Given the description of an element on the screen output the (x, y) to click on. 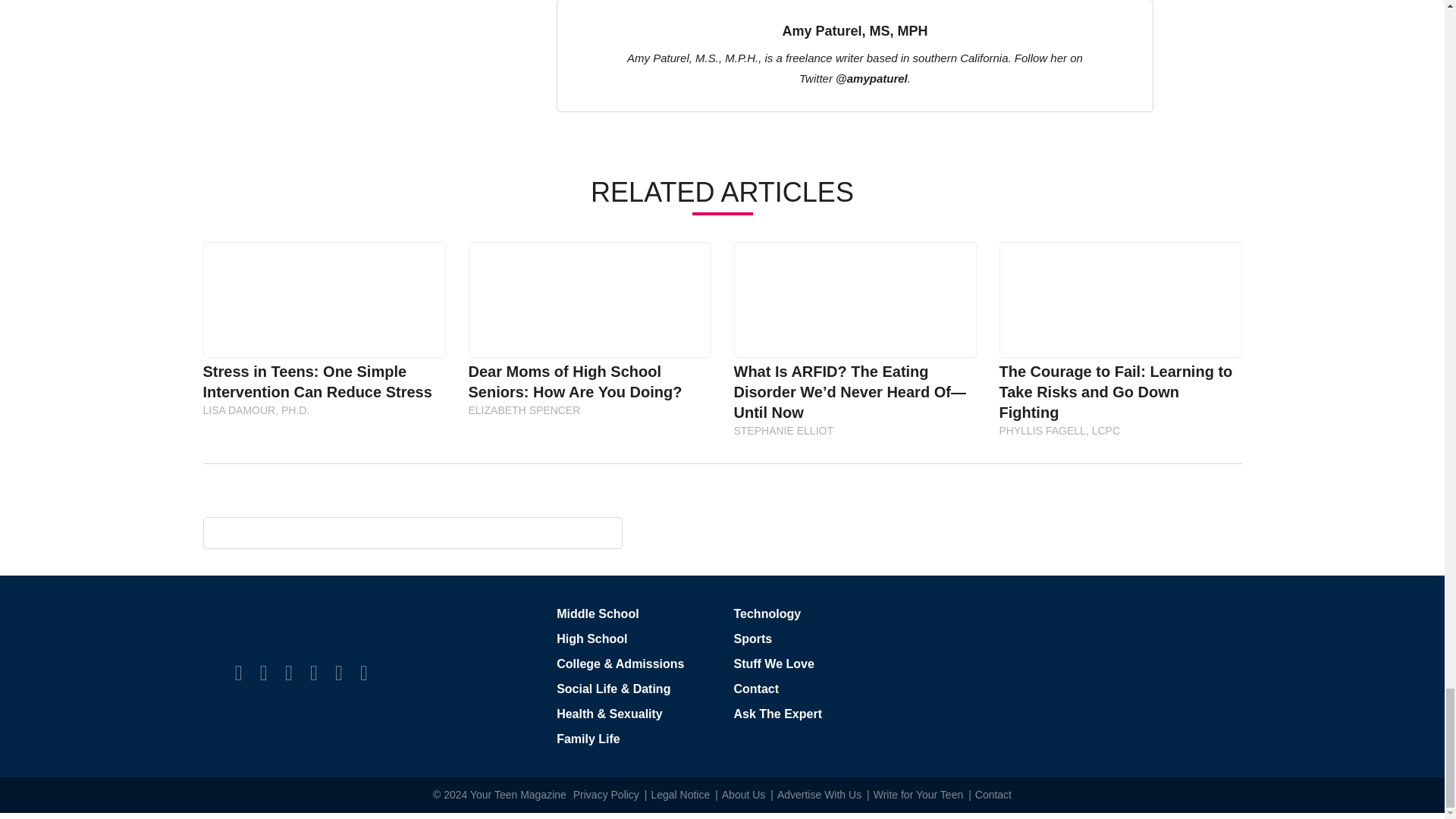
Twitter (263, 672)
Stress in Teens: One Simple Intervention Can Reduce Stress (323, 299)
YouTube (338, 672)
Your Teen Podcast (363, 672)
Pinterest (313, 672)
Instagram (288, 672)
Dear Moms of High School Seniors: How Are You Doing? (589, 299)
Facebook (238, 672)
